Given the description of an element on the screen output the (x, y) to click on. 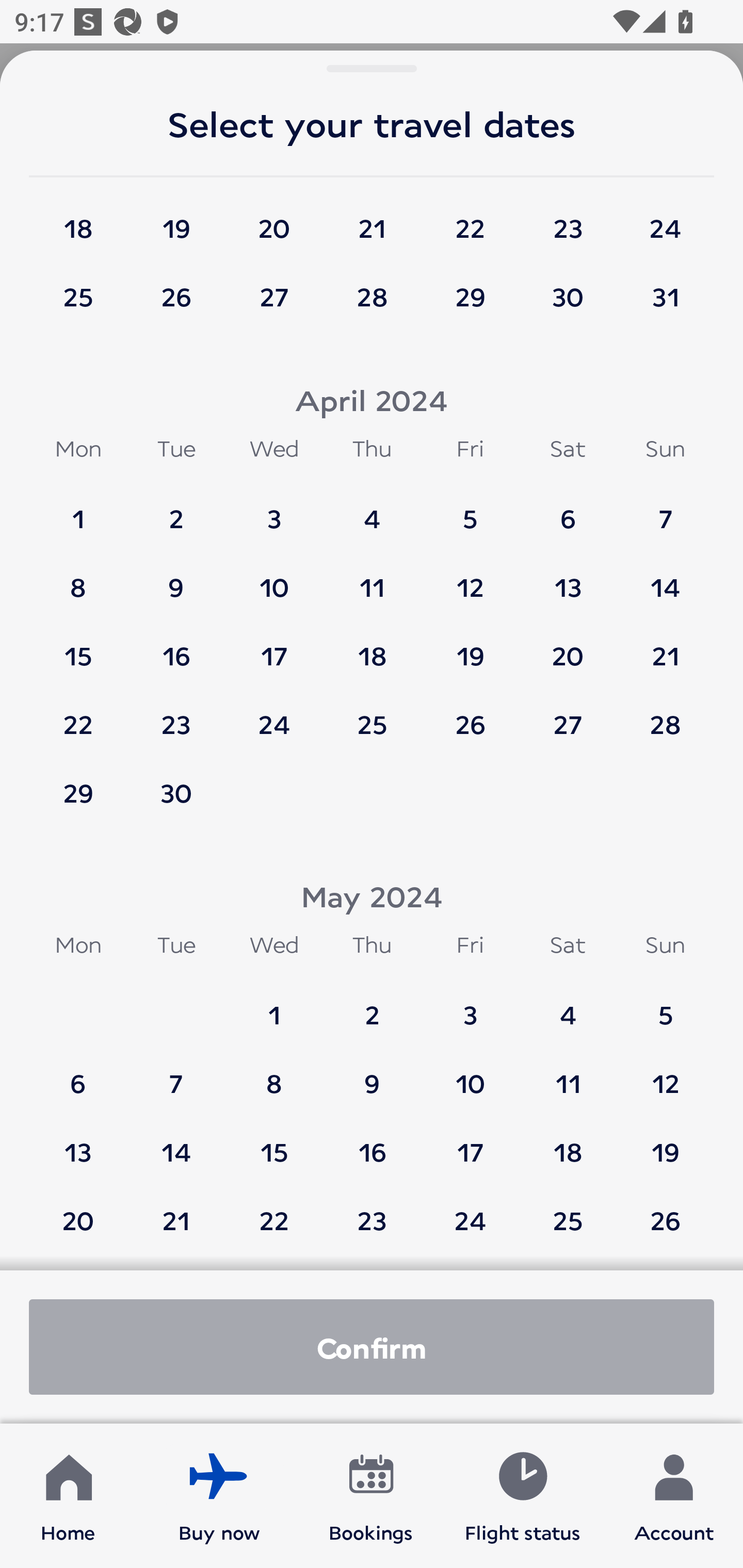
18 (77, 219)
19 (176, 219)
20 (274, 219)
21 (372, 219)
22 (470, 219)
23 (567, 219)
24 (665, 219)
25 (77, 297)
26 (176, 297)
27 (274, 297)
28 (372, 297)
29 (470, 297)
30 (567, 297)
31 (665, 297)
1 (77, 509)
2 (176, 509)
3 (274, 509)
4 (372, 509)
5 (470, 509)
6 (567, 509)
7 (665, 509)
8 (77, 577)
9 (176, 577)
10 (274, 577)
11 (372, 577)
12 (470, 577)
13 (567, 577)
14 (665, 577)
15 (77, 645)
16 (176, 645)
17 (274, 645)
18 (372, 645)
19 (470, 645)
20 (567, 645)
21 (665, 645)
22 (77, 714)
23 (176, 714)
24 (274, 714)
25 (372, 714)
26 (470, 714)
27 (567, 714)
28 (665, 714)
29 (77, 792)
30 (176, 792)
1 (274, 1004)
2 (372, 1004)
3 (470, 1004)
4 (567, 1004)
5 (665, 1004)
6 (77, 1073)
7 (176, 1073)
8 (274, 1073)
9 (372, 1073)
10 (470, 1073)
11 (567, 1073)
12 (665, 1073)
13 (77, 1142)
14 (176, 1142)
15 (274, 1142)
16 (372, 1142)
17 (470, 1142)
18 (567, 1142)
19 (665, 1142)
20 (77, 1210)
21 (176, 1210)
22 (274, 1210)
23 (372, 1210)
24 (470, 1210)
25 (567, 1210)
26 (665, 1210)
Confirm (371, 1346)
Home (68, 1495)
Bookings (370, 1495)
Flight status (522, 1495)
Account (674, 1495)
